Given the description of an element on the screen output the (x, y) to click on. 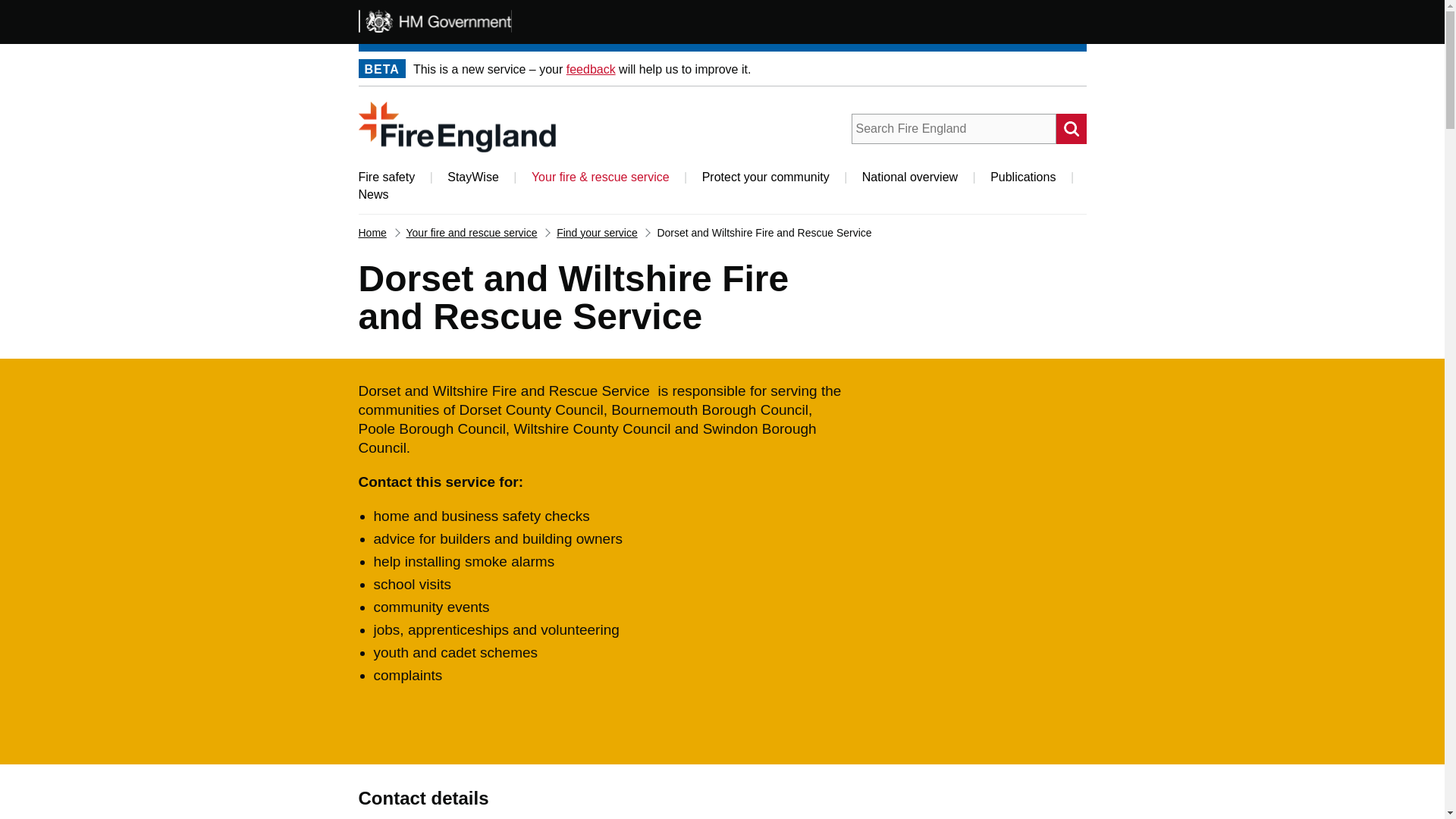
Your fire and rescue service (471, 232)
National overview (909, 176)
feedback (590, 69)
Home (456, 126)
StayWise (472, 176)
Fire safety (386, 176)
Submit search (1070, 128)
Home (371, 232)
Home (456, 126)
Publications (1022, 176)
